Given the description of an element on the screen output the (x, y) to click on. 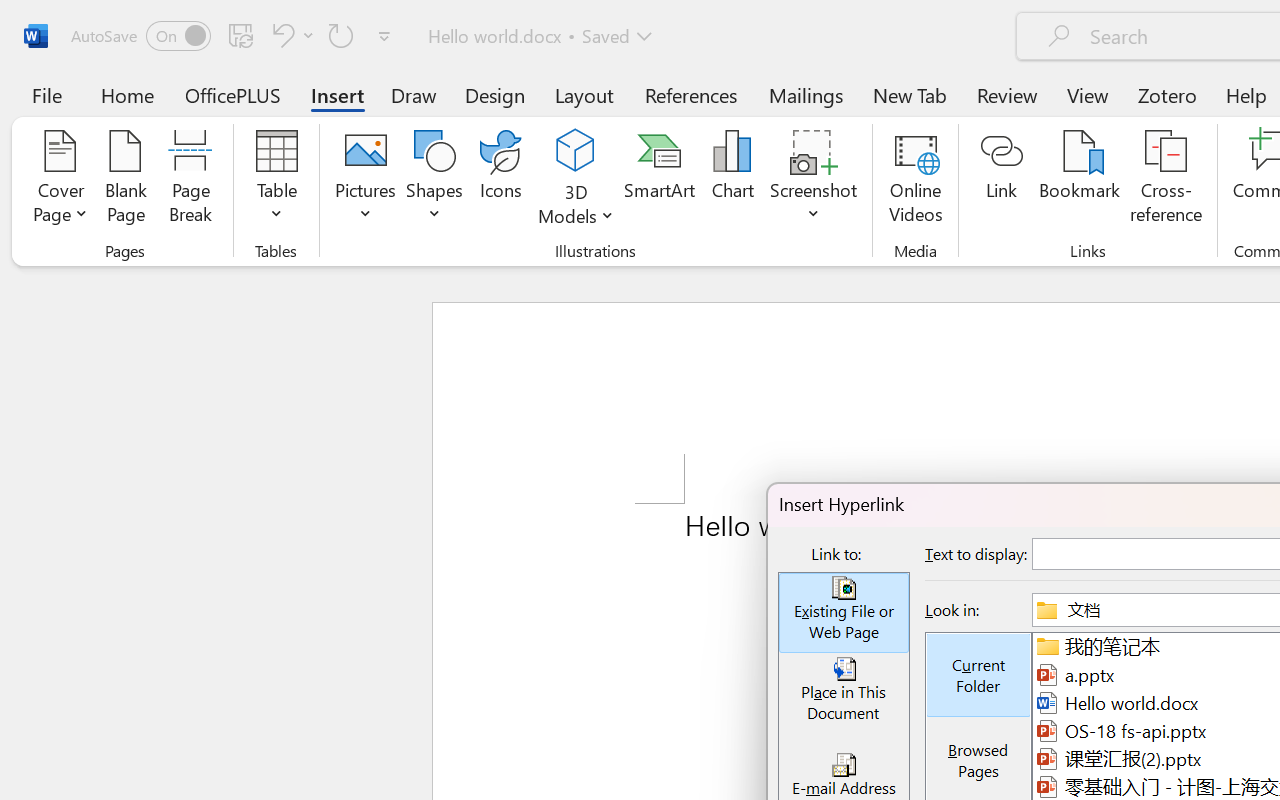
Icons (500, 179)
3D Models (576, 179)
Table (276, 179)
Mailings (806, 94)
Zotero (1166, 94)
Pictures (365, 179)
AutoSave (140, 35)
Draw (413, 94)
SmartArt... (659, 179)
Current Folder (977, 675)
File Tab (46, 94)
Quick Access Toolbar (233, 36)
Place in This Document (843, 694)
Shapes (435, 179)
Blank Page (125, 179)
